Given the description of an element on the screen output the (x, y) to click on. 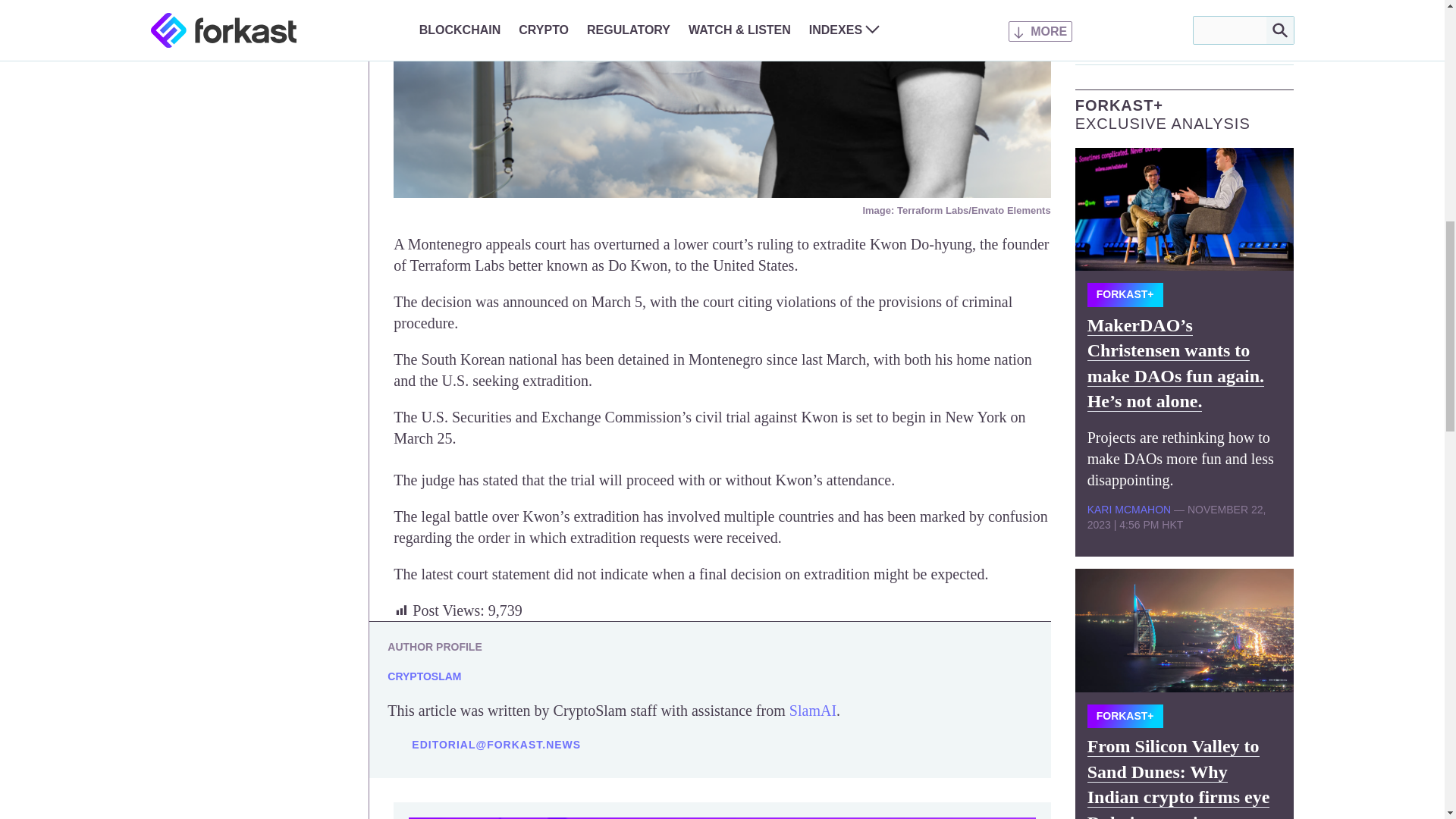
Posts by Kari McMahon (1128, 509)
